Given the description of an element on the screen output the (x, y) to click on. 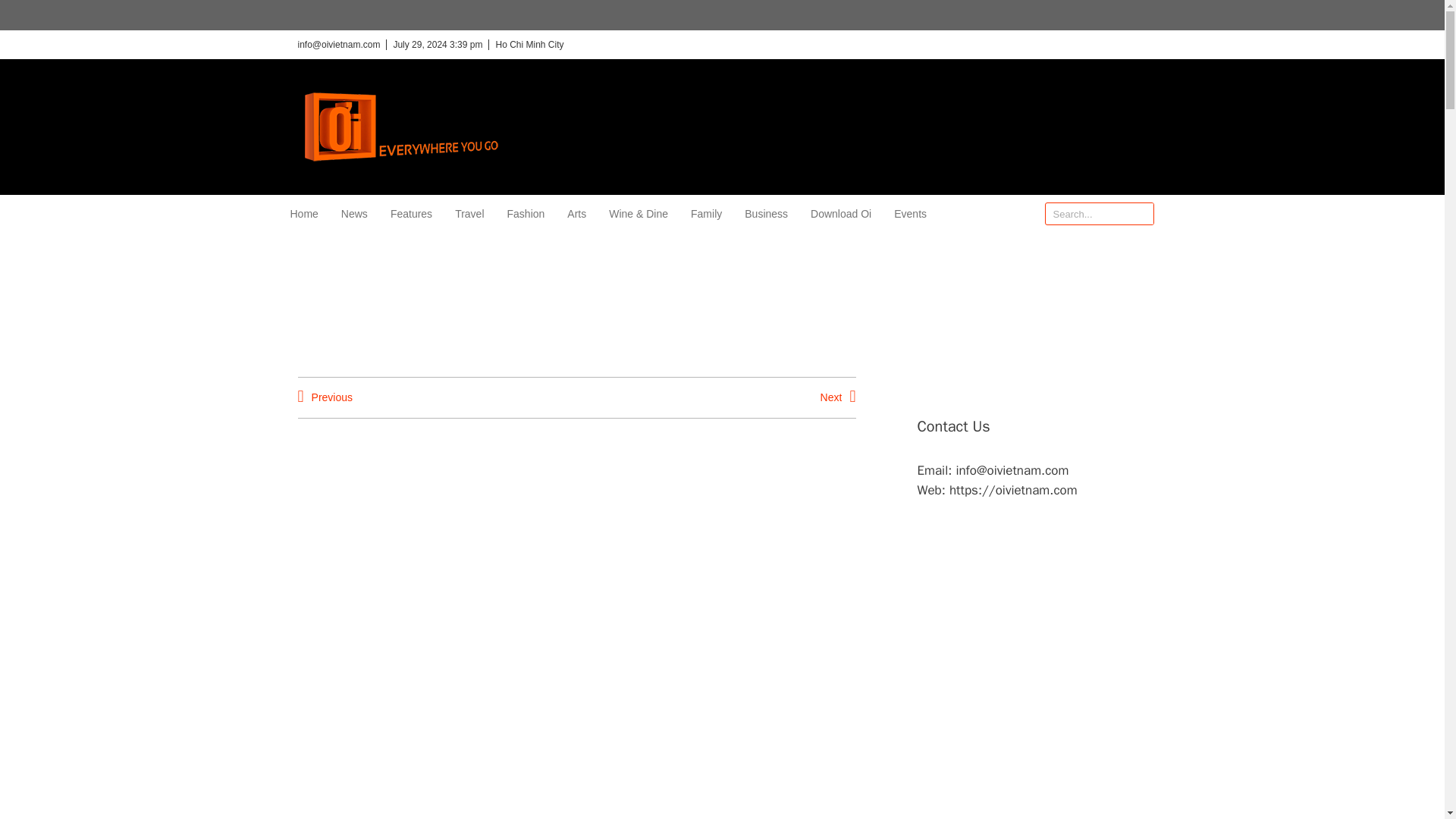
Business (765, 213)
Fashion (525, 213)
Features (411, 213)
Family (706, 213)
